Given the description of an element on the screen output the (x, y) to click on. 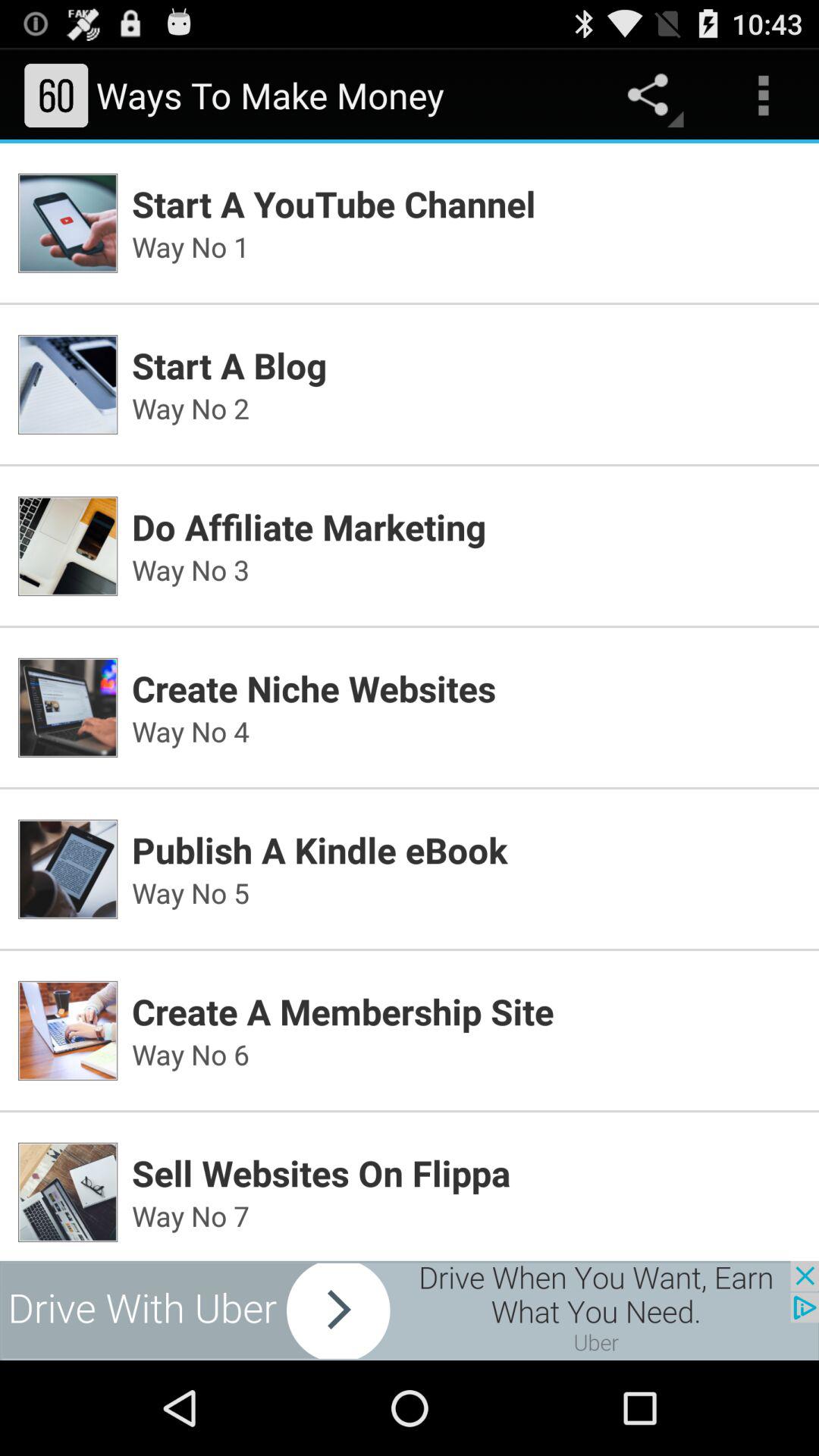
banner advertisement (409, 1310)
